Given the description of an element on the screen output the (x, y) to click on. 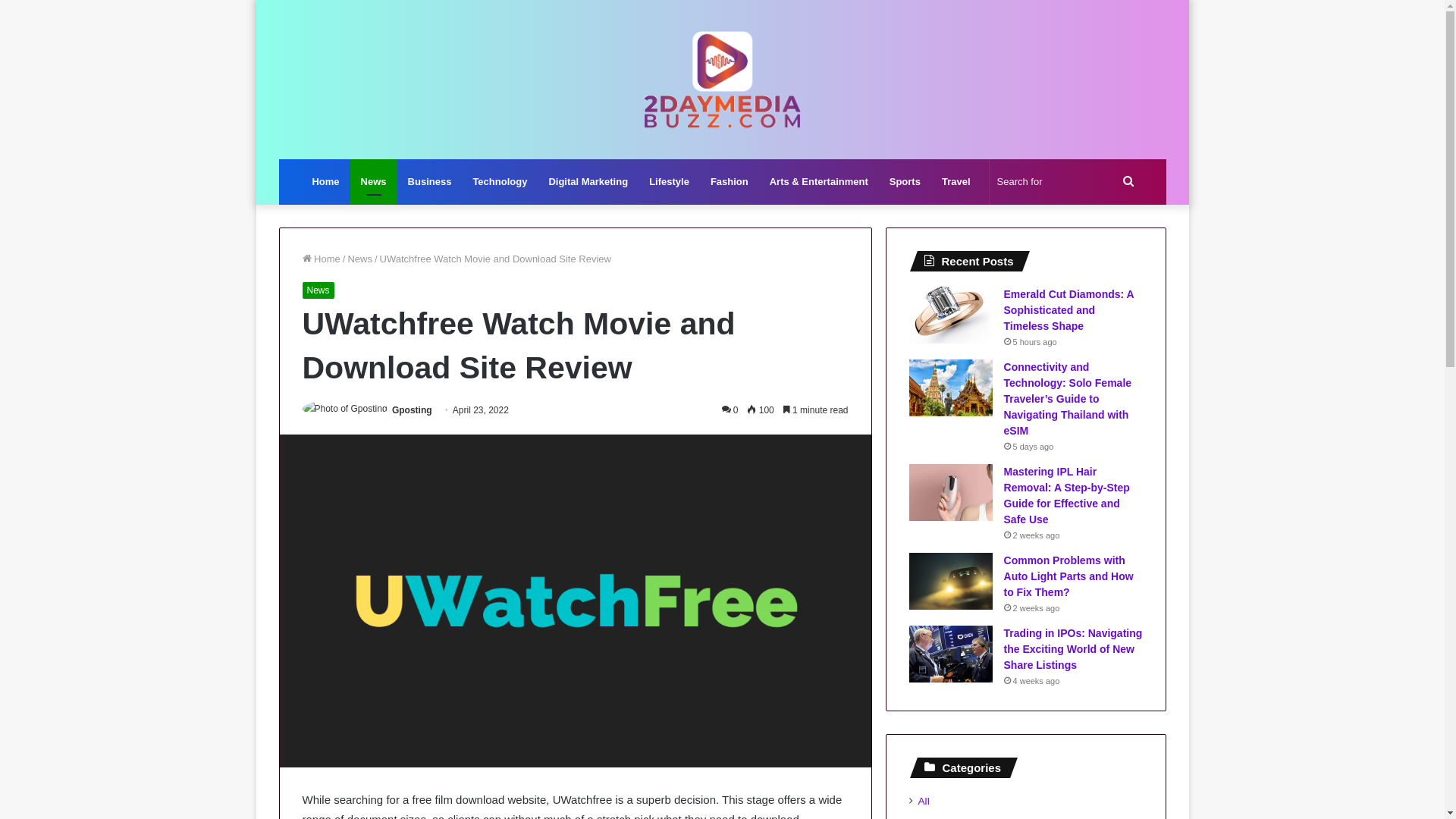
Technology Element type: text (499, 181)
Travel Element type: text (956, 181)
Business Element type: text (429, 181)
Digital Marketing Element type: text (587, 181)
News Element type: text (359, 258)
All Element type: text (923, 801)
Search for Element type: text (1128, 181)
Emerald Cut Diamonds: A Sophisticated and Timeless Shape Element type: text (1069, 310)
News Element type: text (317, 290)
News Element type: text (373, 181)
Gposting Element type: text (412, 409)
Search for Element type: hover (1066, 181)
Lifestyle Element type: text (668, 181)
Sports Element type: text (904, 181)
Fashion Element type: text (729, 181)
Home Element type: text (320, 258)
Arts & Entertainment Element type: text (818, 181)
Home Element type: text (325, 181)
Today Media Buzz Element type: hover (722, 79)
Common Problems with Auto Light Parts and How to Fix Them? Element type: text (1068, 576)
